Given the description of an element on the screen output the (x, y) to click on. 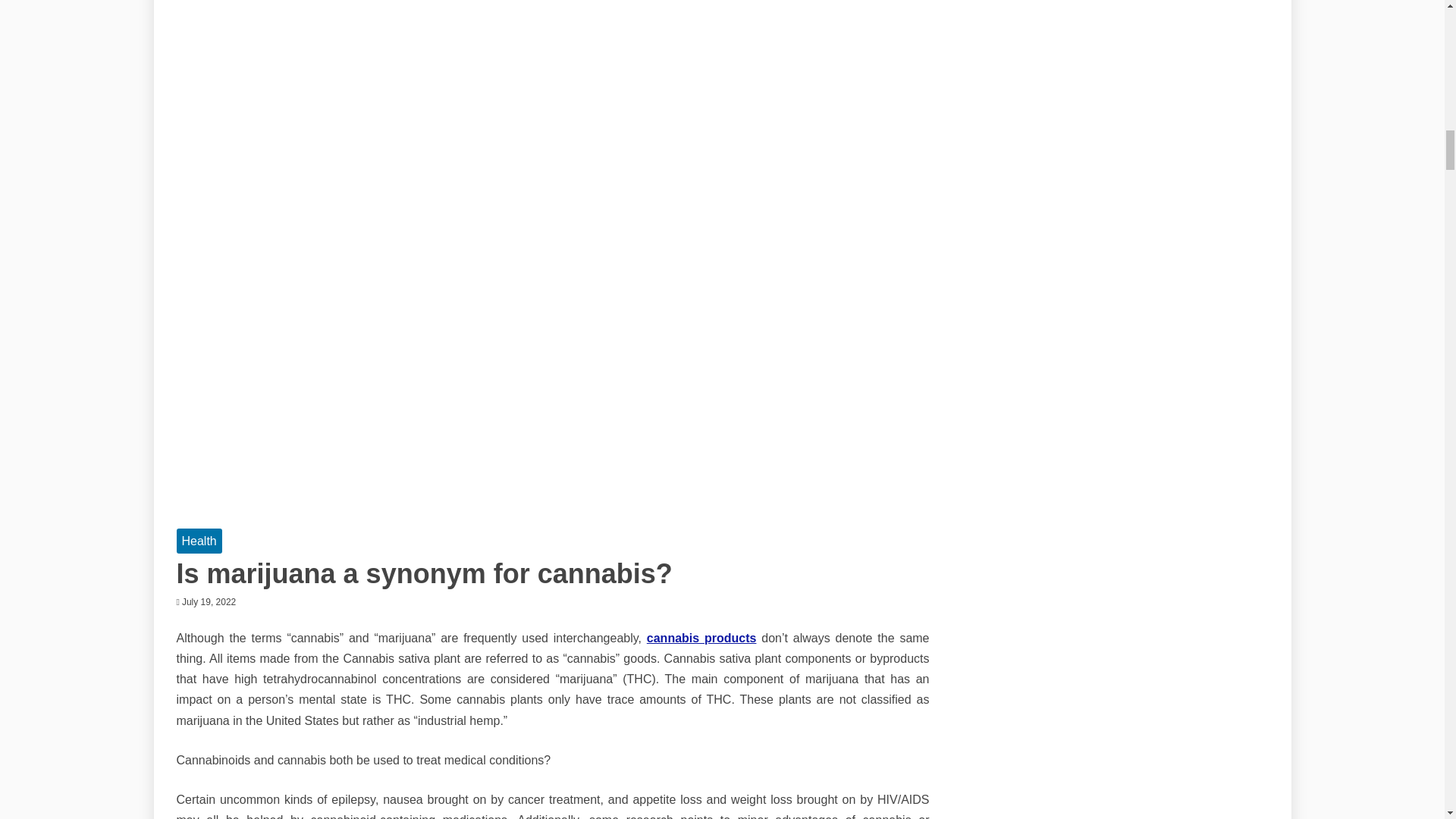
Is marijuana a synonym for cannabis? (423, 572)
Health (198, 540)
cannabis products (701, 637)
July 19, 2022 (208, 601)
